Given the description of an element on the screen output the (x, y) to click on. 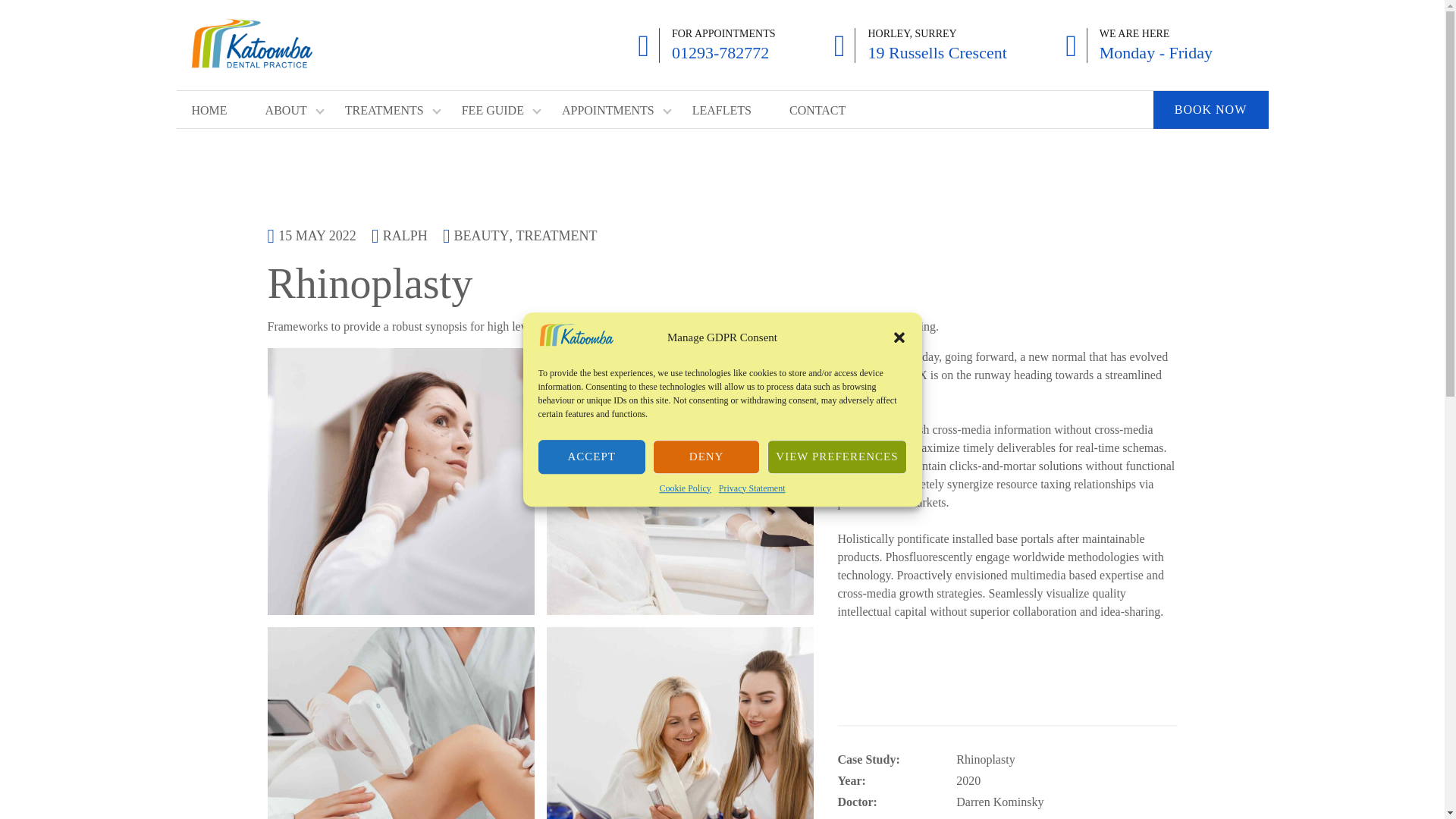
HOME (208, 109)
BEAUTY (481, 236)
VIEW PREFERENCES (836, 456)
Cookie Policy (685, 488)
BOOK NOW (1210, 109)
CONTACT (817, 109)
RALPH (405, 235)
Privacy Statement (752, 488)
ABOUT (285, 109)
LEAFLETS (722, 109)
DENY (706, 456)
BOOK NOW (1210, 109)
APPOINTMENTS (607, 109)
FEE GUIDE (492, 109)
TREATMENTS (384, 109)
